Given the description of an element on the screen output the (x, y) to click on. 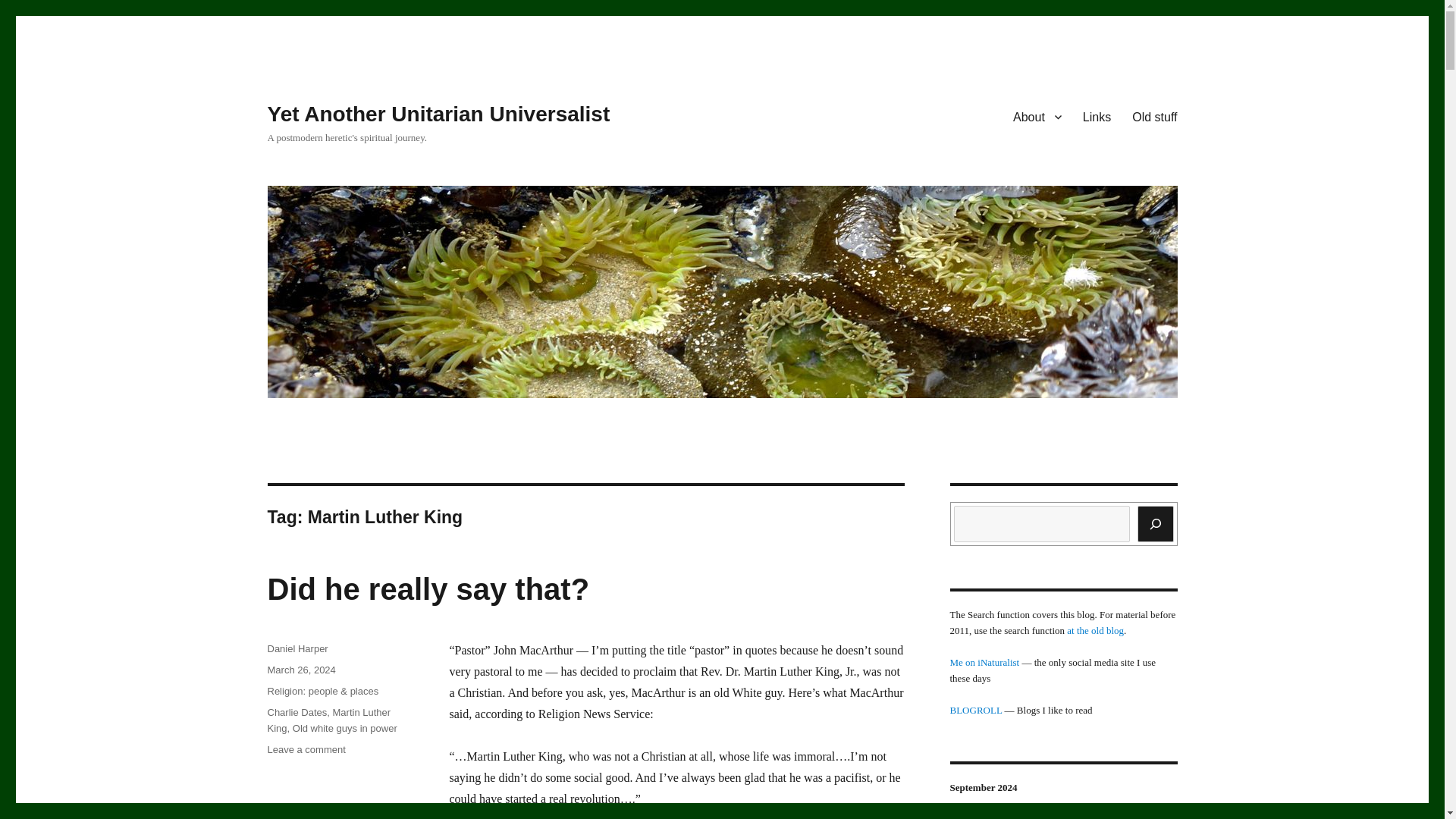
Old white guys in power (305, 749)
Sunday (344, 727)
Charlie Dates (967, 816)
Tuesday (296, 712)
Friday (1031, 816)
Wednesday (1128, 816)
Yet Another Unitarian Universalist (1064, 816)
Martin Luther King (438, 114)
Saturday (328, 719)
